Given the description of an element on the screen output the (x, y) to click on. 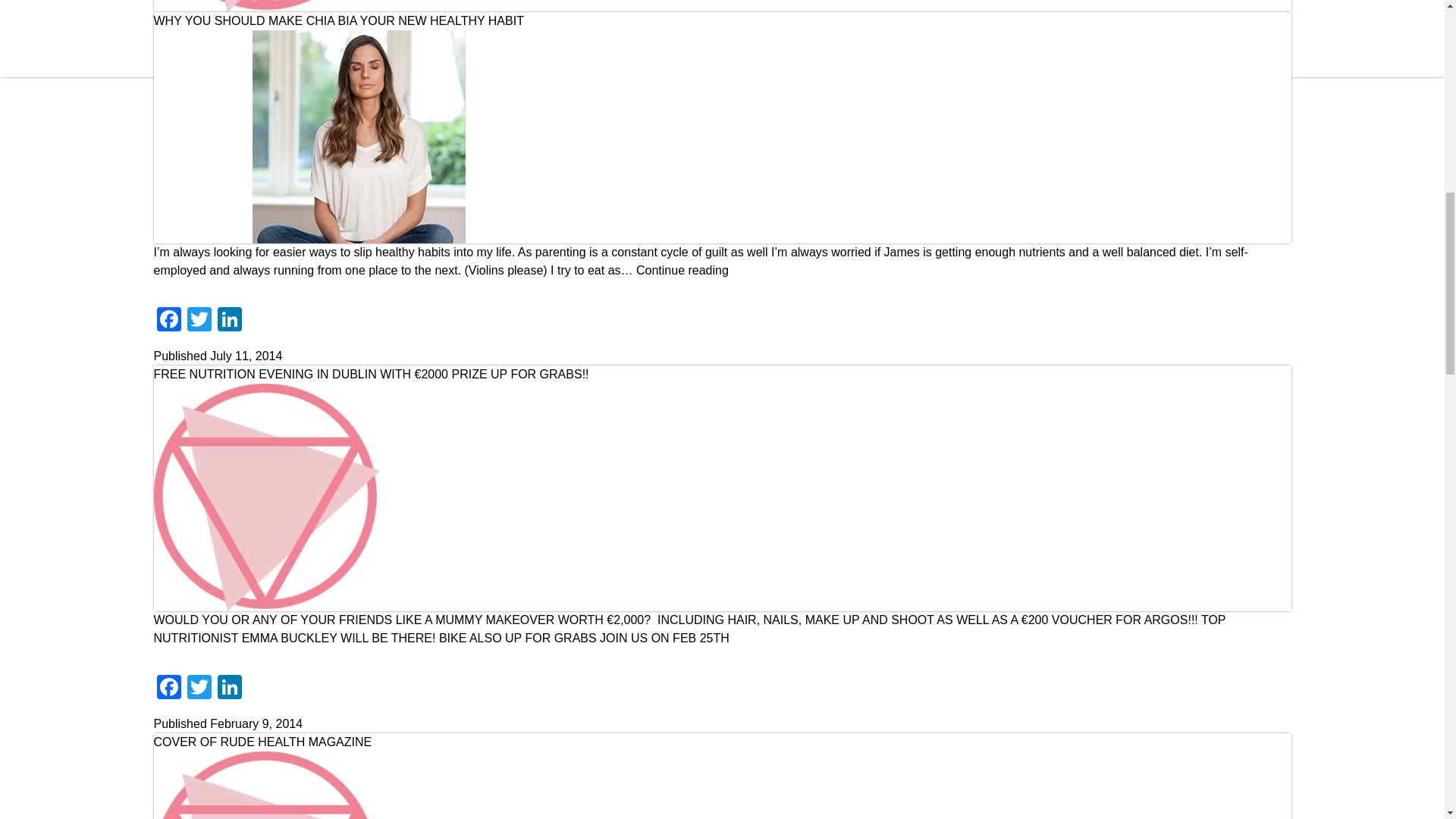
LinkedIn (229, 320)
Facebook (167, 320)
LinkedIn (229, 688)
Twitter (198, 688)
Facebook (167, 688)
Twitter (198, 320)
